Given the description of an element on the screen output the (x, y) to click on. 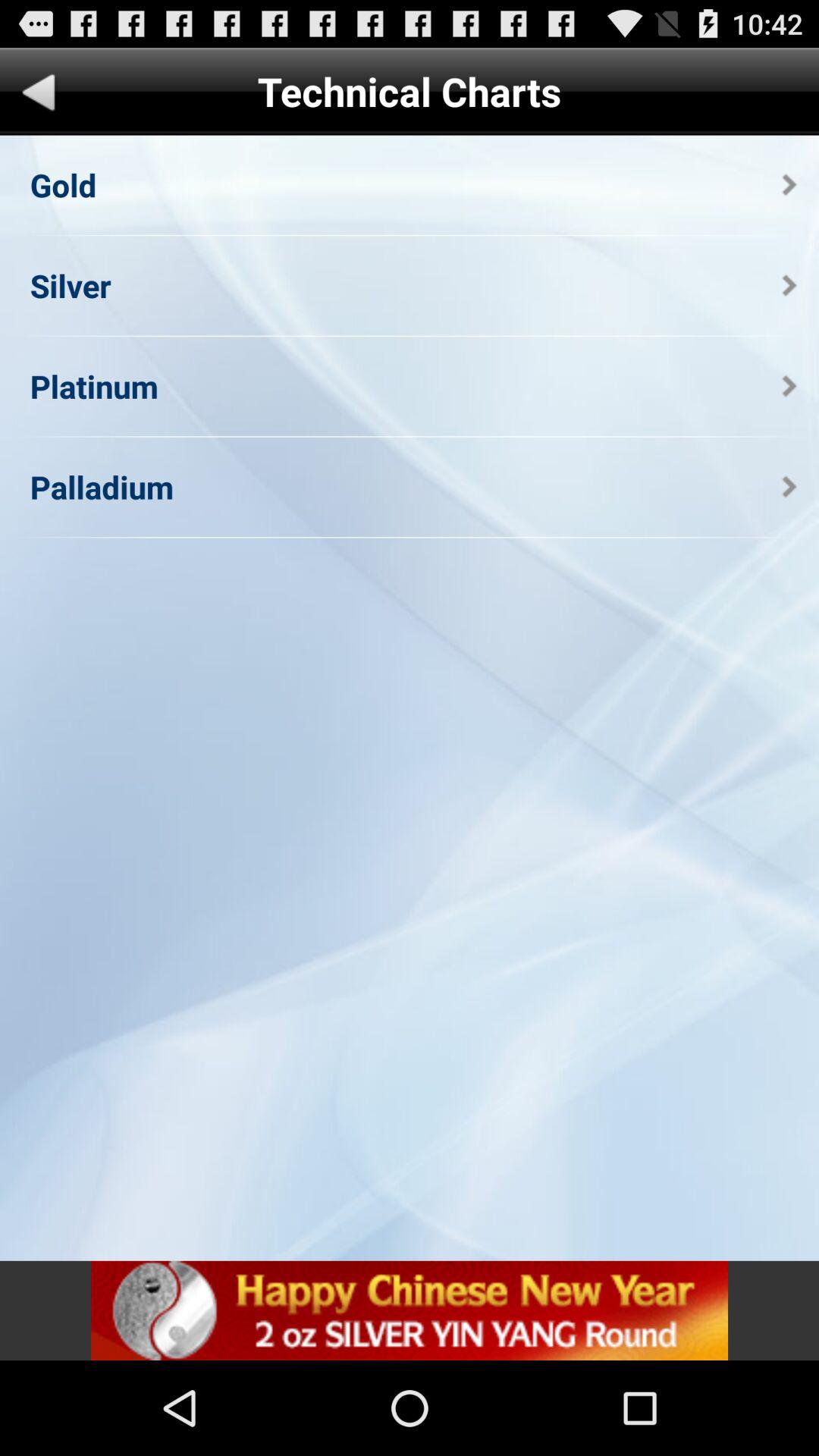
go to previous (39, 95)
